Given the description of an element on the screen output the (x, y) to click on. 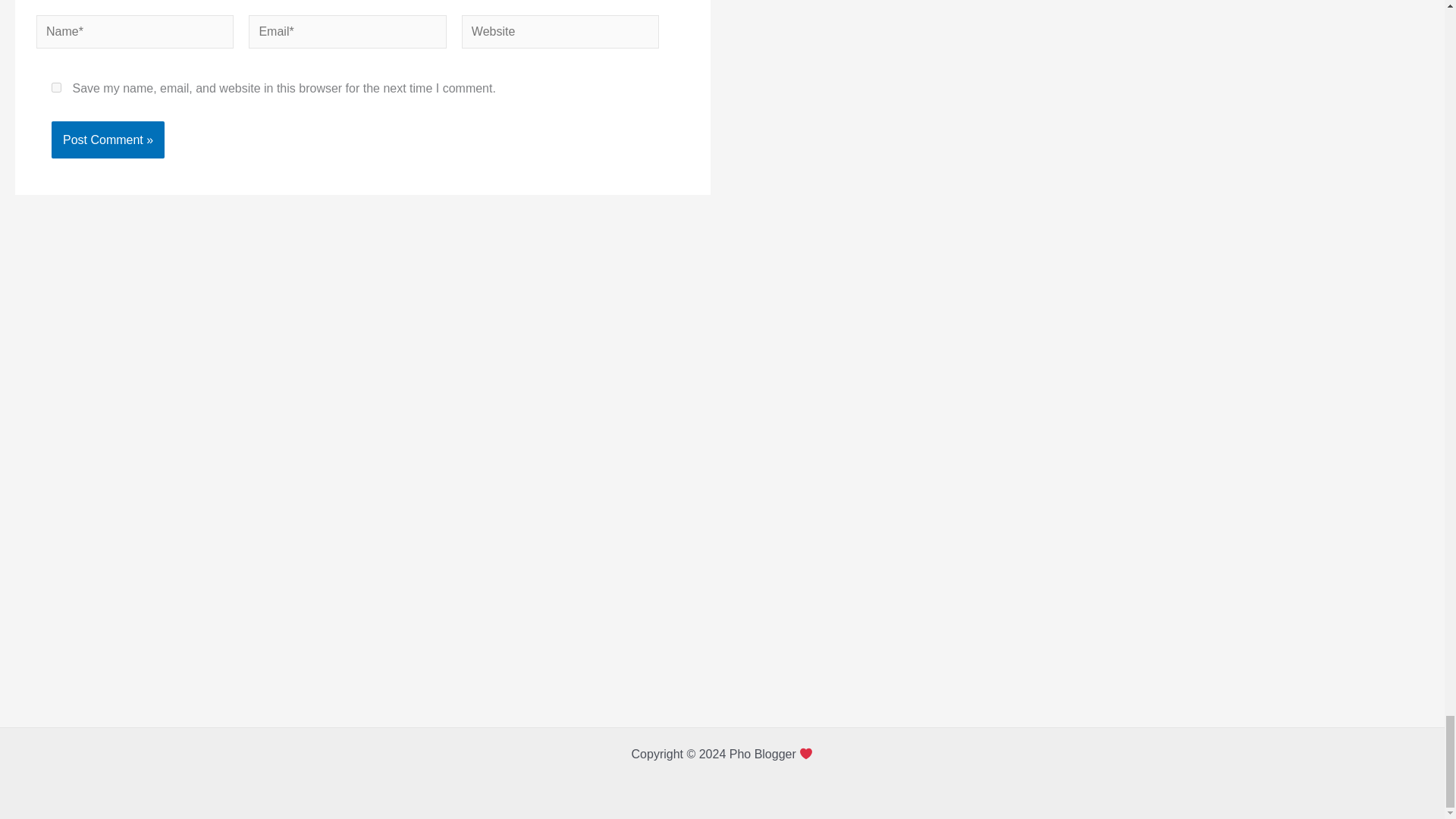
yes (55, 87)
